Given the description of an element on the screen output the (x, y) to click on. 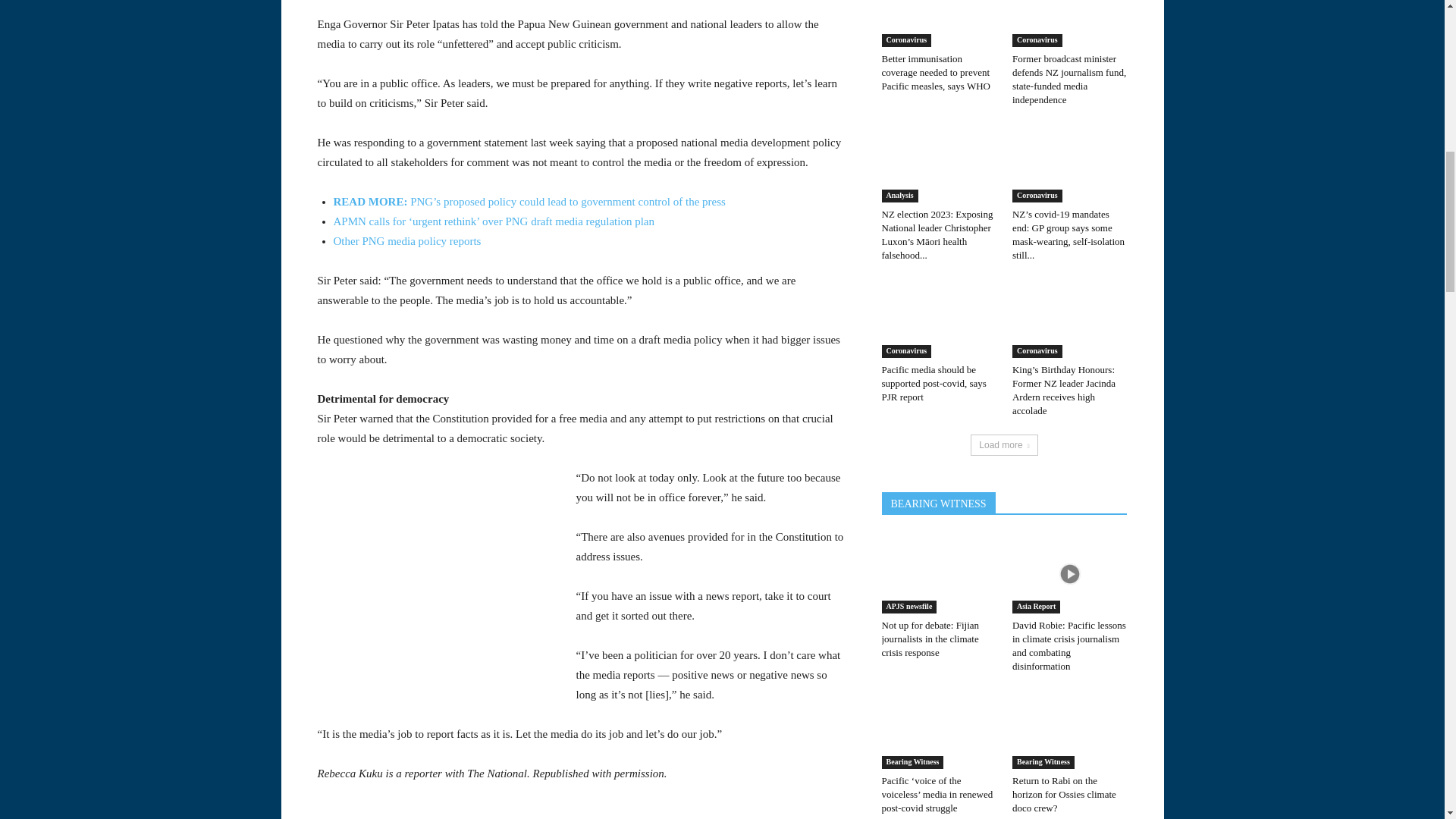
Indonesia (140, 265)
Brunei (140, 179)
Tokelau (140, 10)
West Papua (140, 121)
Lao (140, 294)
Tonga (140, 35)
Asia Report (140, 150)
Cambodia (140, 208)
Malaysia (140, 323)
Tuvalu (140, 63)
Vanuatu (140, 92)
China (140, 236)
Myanmar (140, 352)
